Given the description of an element on the screen output the (x, y) to click on. 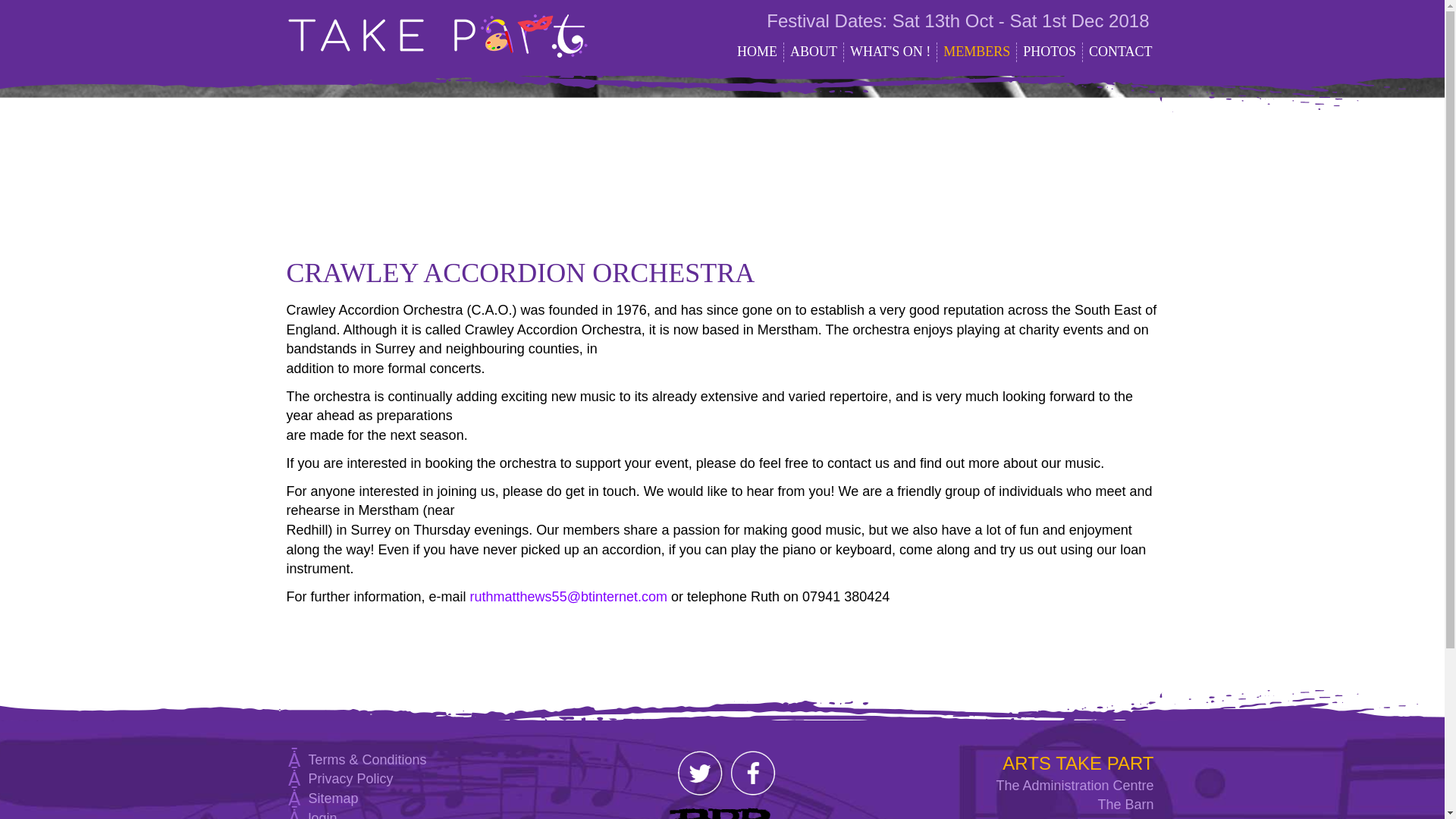
Sitemap (332, 798)
MEMBERS (976, 52)
ABOUT (814, 52)
CONTACT (1120, 52)
Privacy Policy (350, 778)
PHOTOS (1049, 52)
HOME (757, 52)
login (321, 814)
WHAT'S ON ! (890, 52)
